Given the description of an element on the screen output the (x, y) to click on. 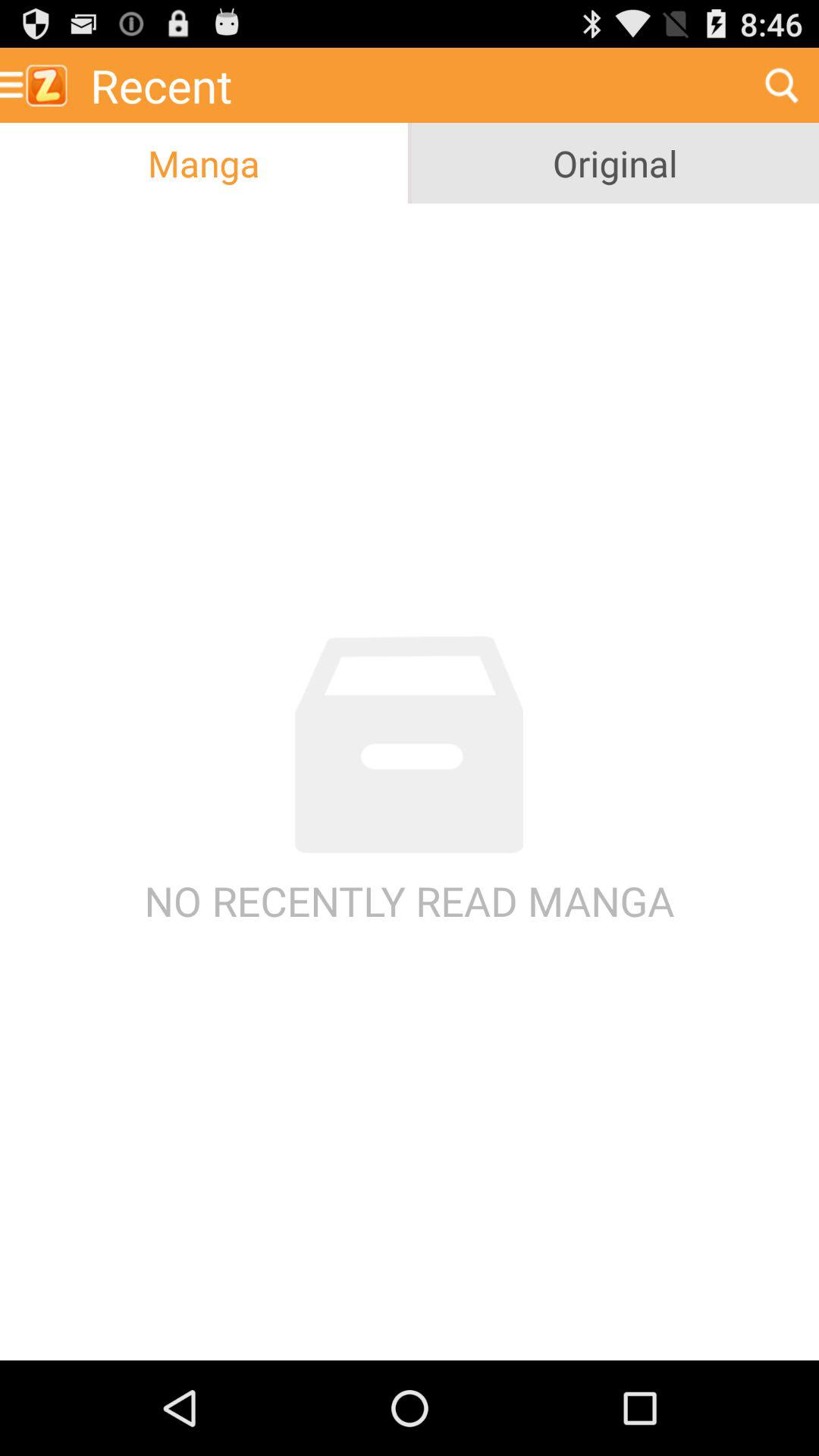
flip to the recent (411, 85)
